Given the description of an element on the screen output the (x, y) to click on. 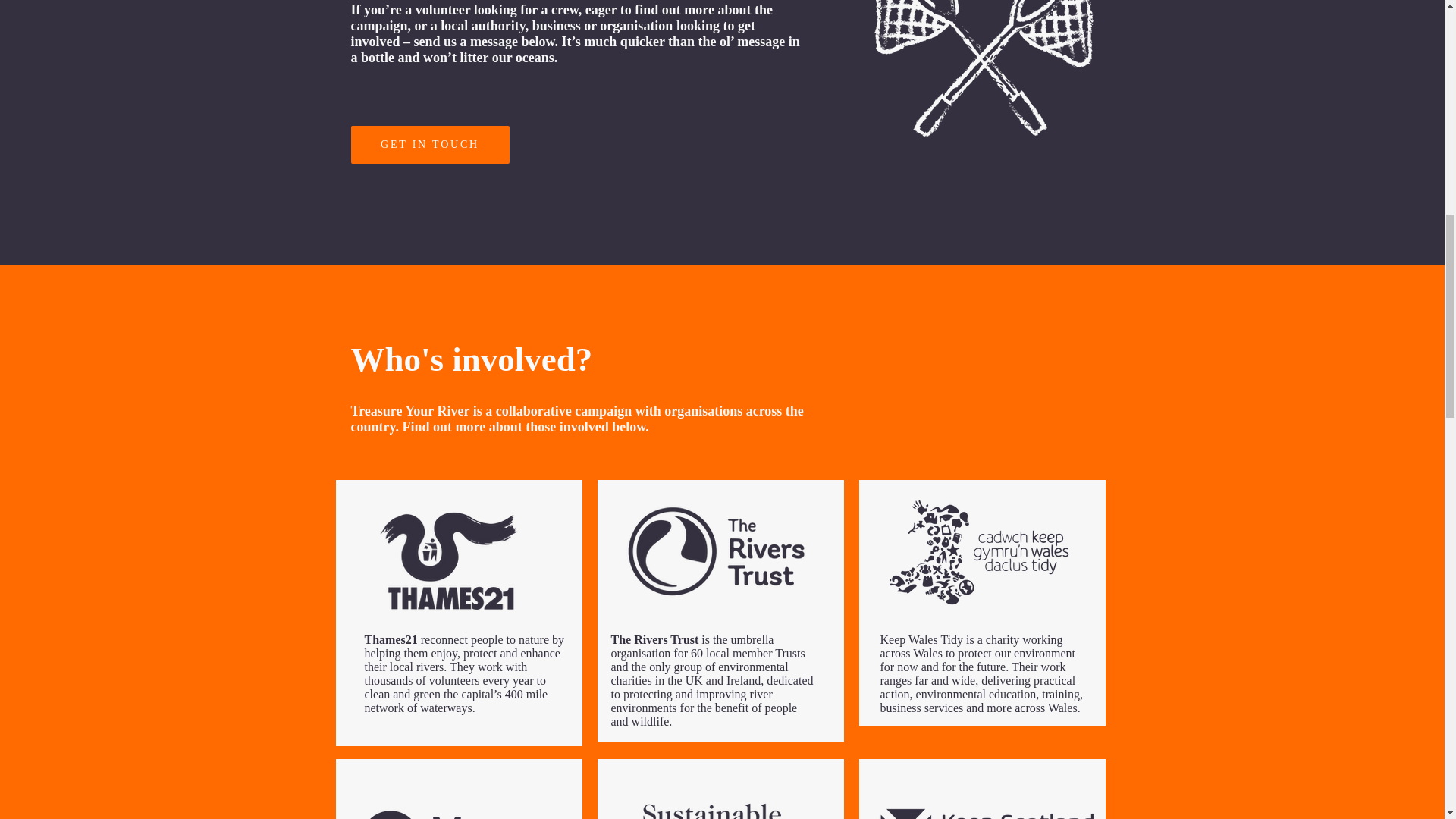
GET IN TOUCH (429, 144)
The Rivers Trust  (656, 639)
Keep Wales Tidy (920, 639)
is the umbrella organisation for  (692, 646)
Thames21 (390, 639)
